Given the description of an element on the screen output the (x, y) to click on. 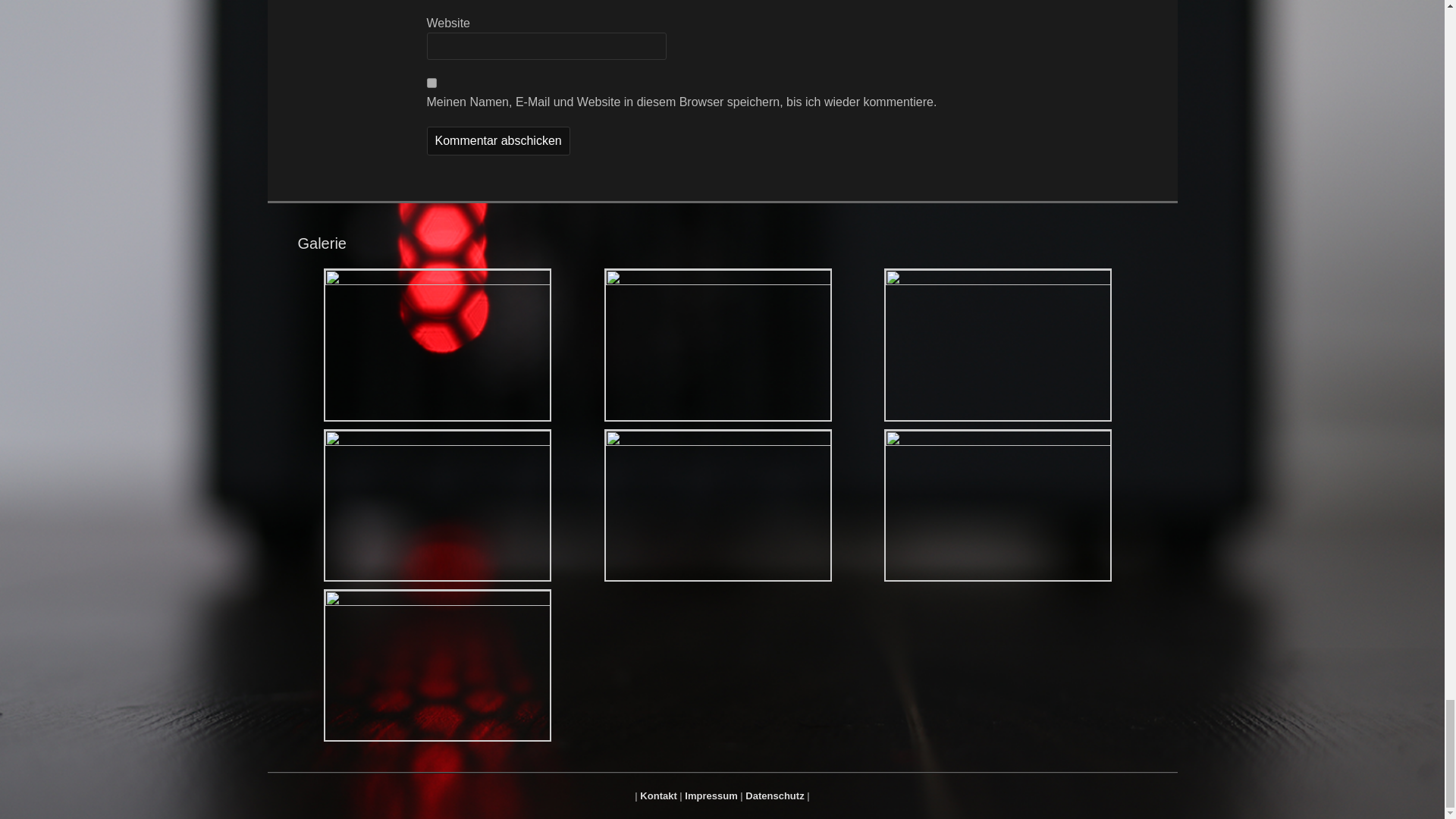
Kontakt (658, 795)
Kommentar abschicken (497, 140)
Impressum (710, 795)
Datenschutz (774, 795)
Kommentar abschicken (497, 140)
yes (430, 82)
